Given the description of an element on the screen output the (x, y) to click on. 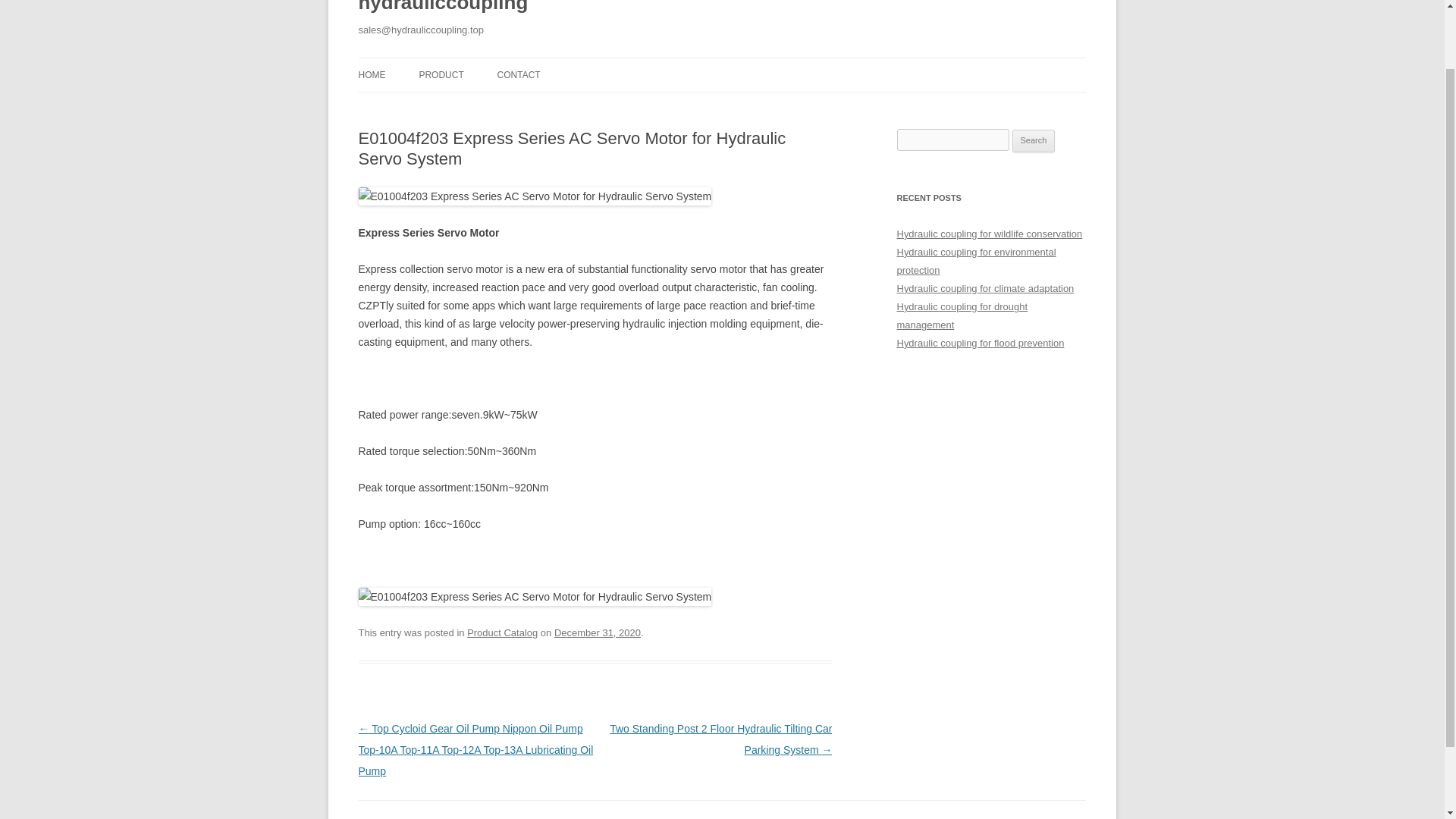
Search (1033, 140)
HOME (371, 74)
Search (1033, 140)
Product Catalog (502, 632)
CONTACT (518, 74)
PRODUCT (441, 74)
4:54 am (597, 632)
Hydraulic coupling for environmental protection (975, 261)
Hydraulic coupling for climate adaptation (985, 288)
Hydraulic coupling for drought management (961, 315)
hydrauliccoupling (442, 10)
